Given the description of an element on the screen output the (x, y) to click on. 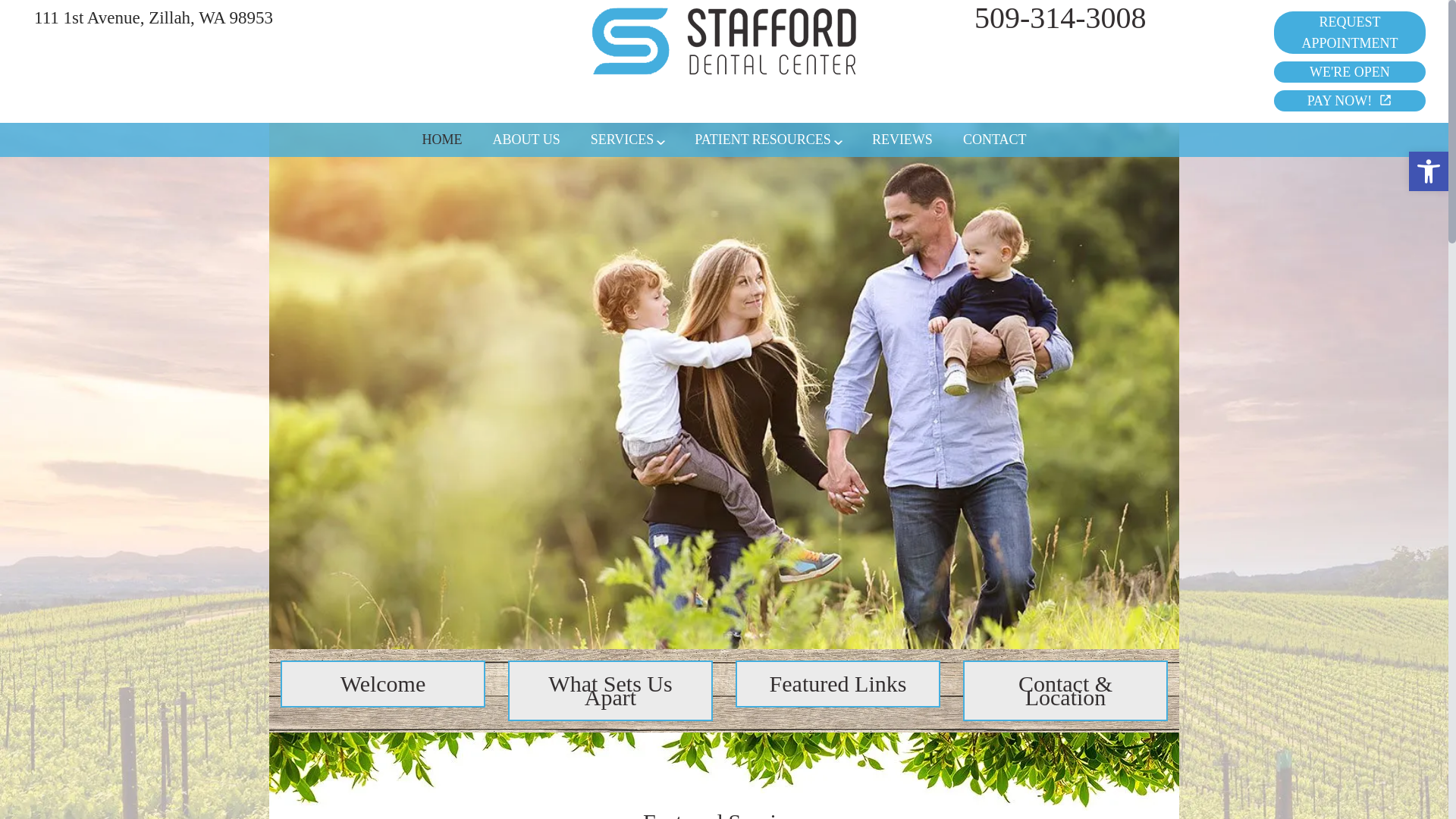
Accessibility Tools (1428, 170)
